Given the description of an element on the screen output the (x, y) to click on. 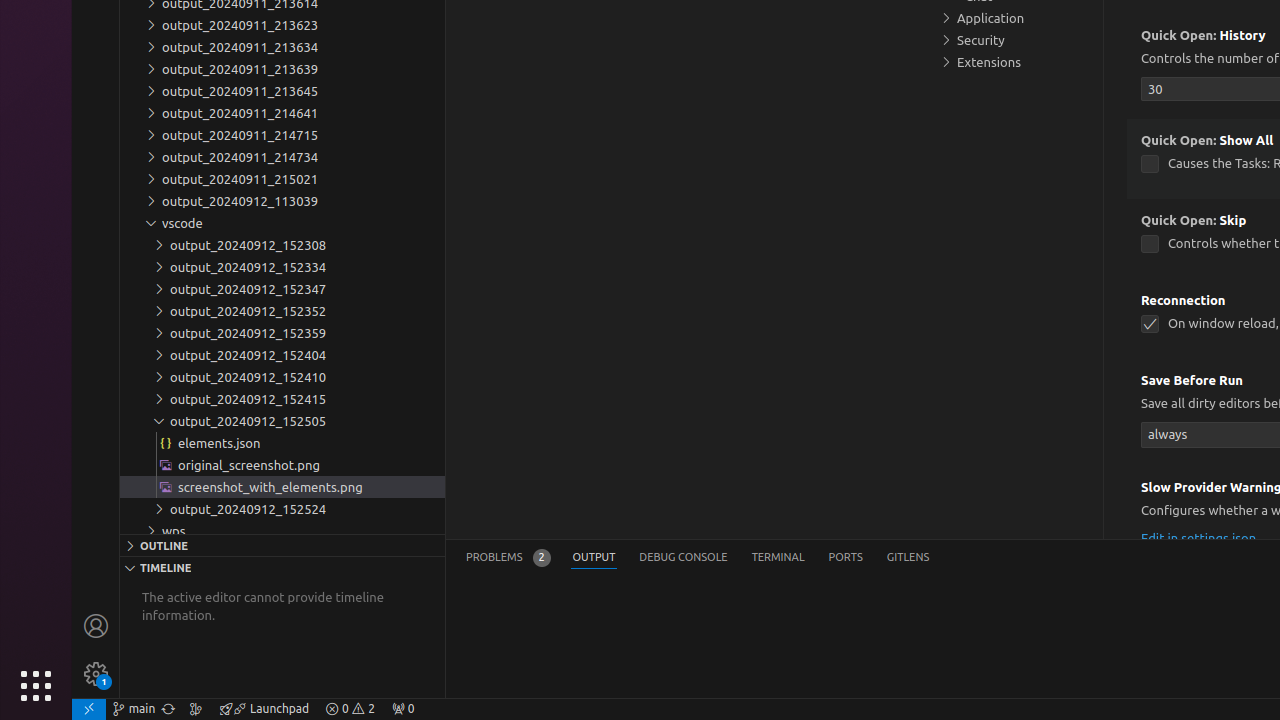
OSWorld (Git) - main, Checkout Branch/Tag... Element type: push-button (134, 709)
Outline Section Element type: push-button (282, 545)
task.quickOpen.showAll Element type: check-box (1150, 164)
output_20240912_152352 Element type: tree-item (282, 311)
Security, group Element type: tree-item (1015, 40)
